Given the description of an element on the screen output the (x, y) to click on. 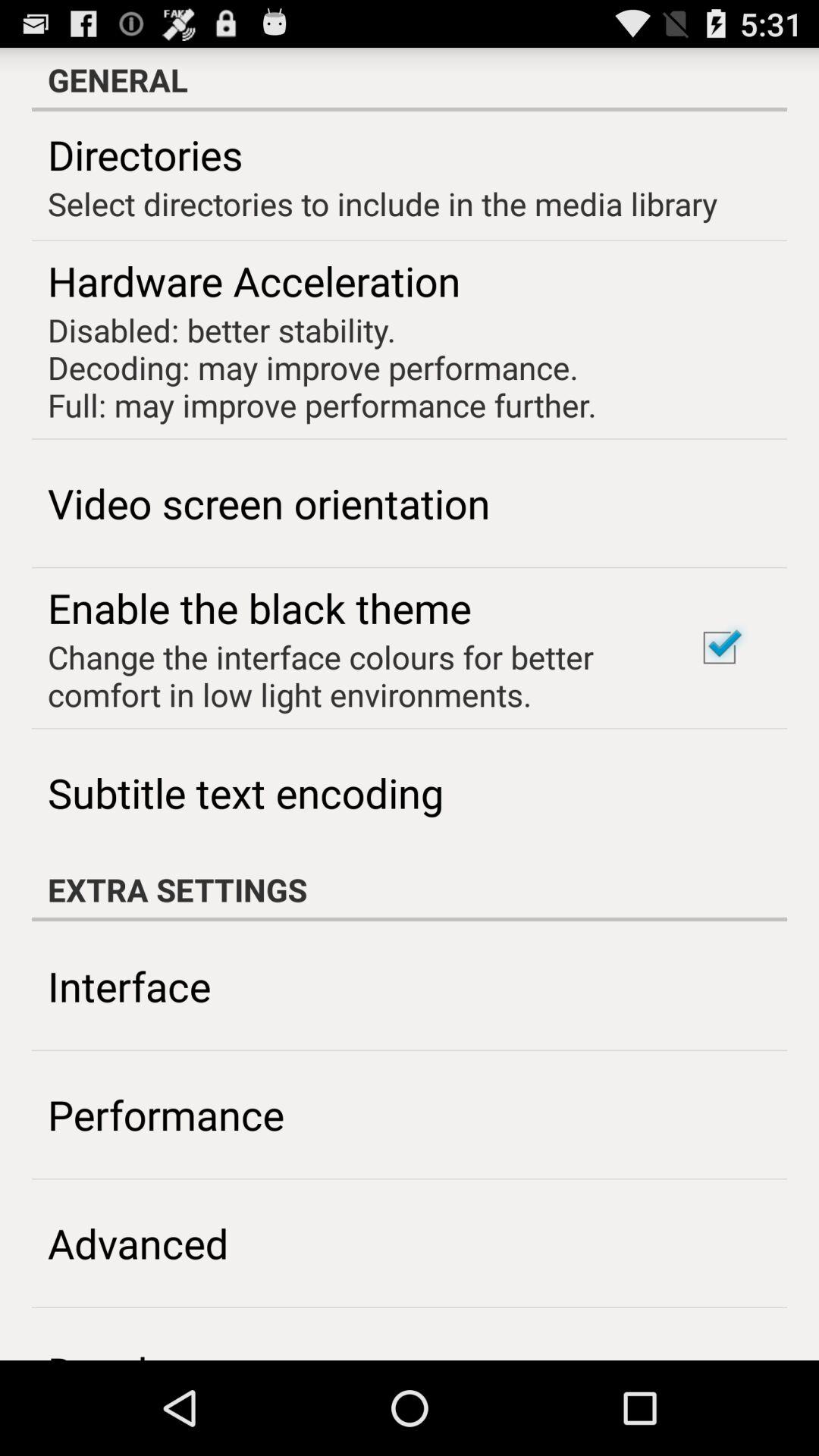
select icon below disabled better stability (268, 502)
